Given the description of an element on the screen output the (x, y) to click on. 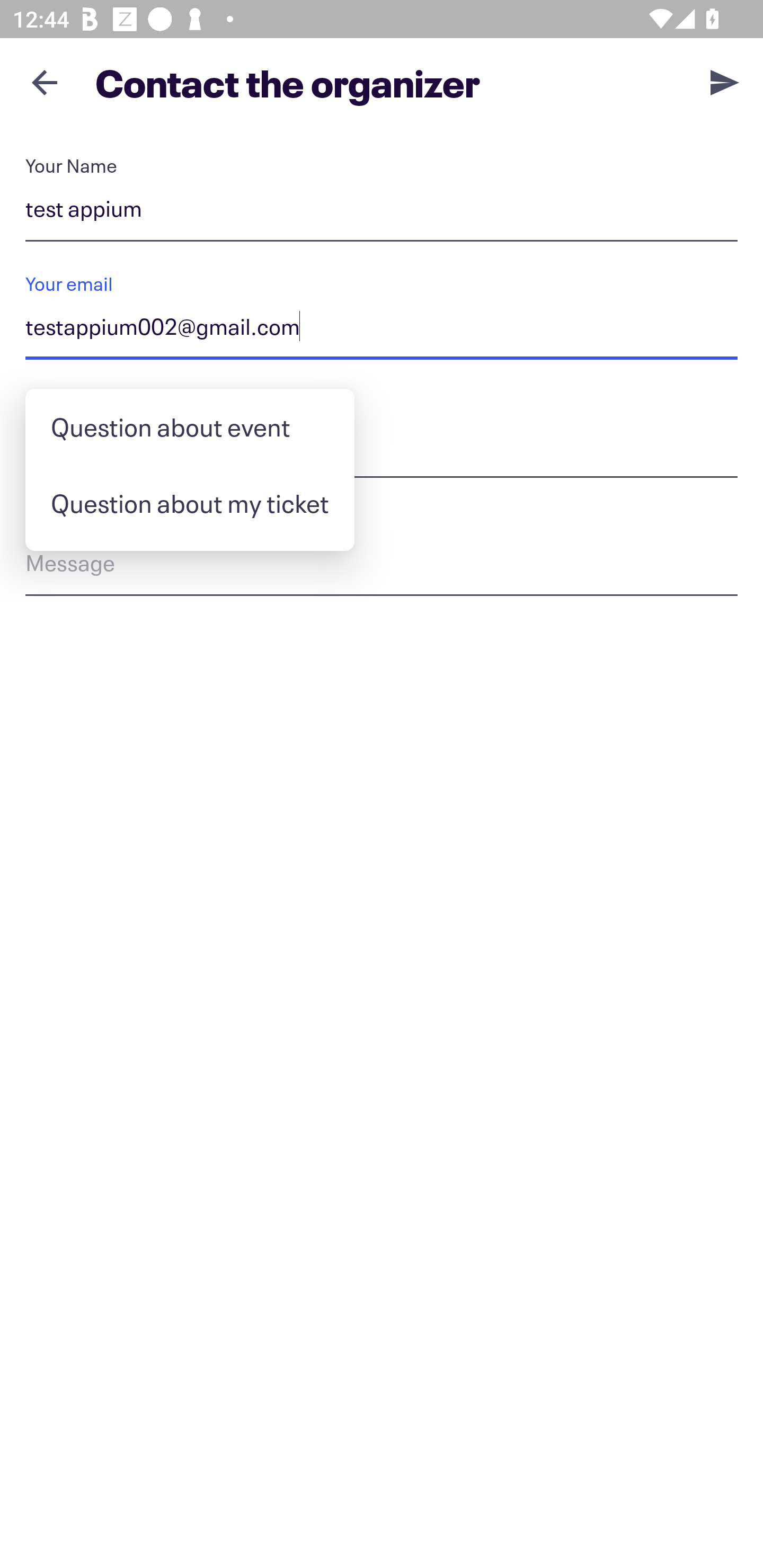
Question about event (189, 426)
Question about my ticket (189, 502)
